Given the description of an element on the screen output the (x, y) to click on. 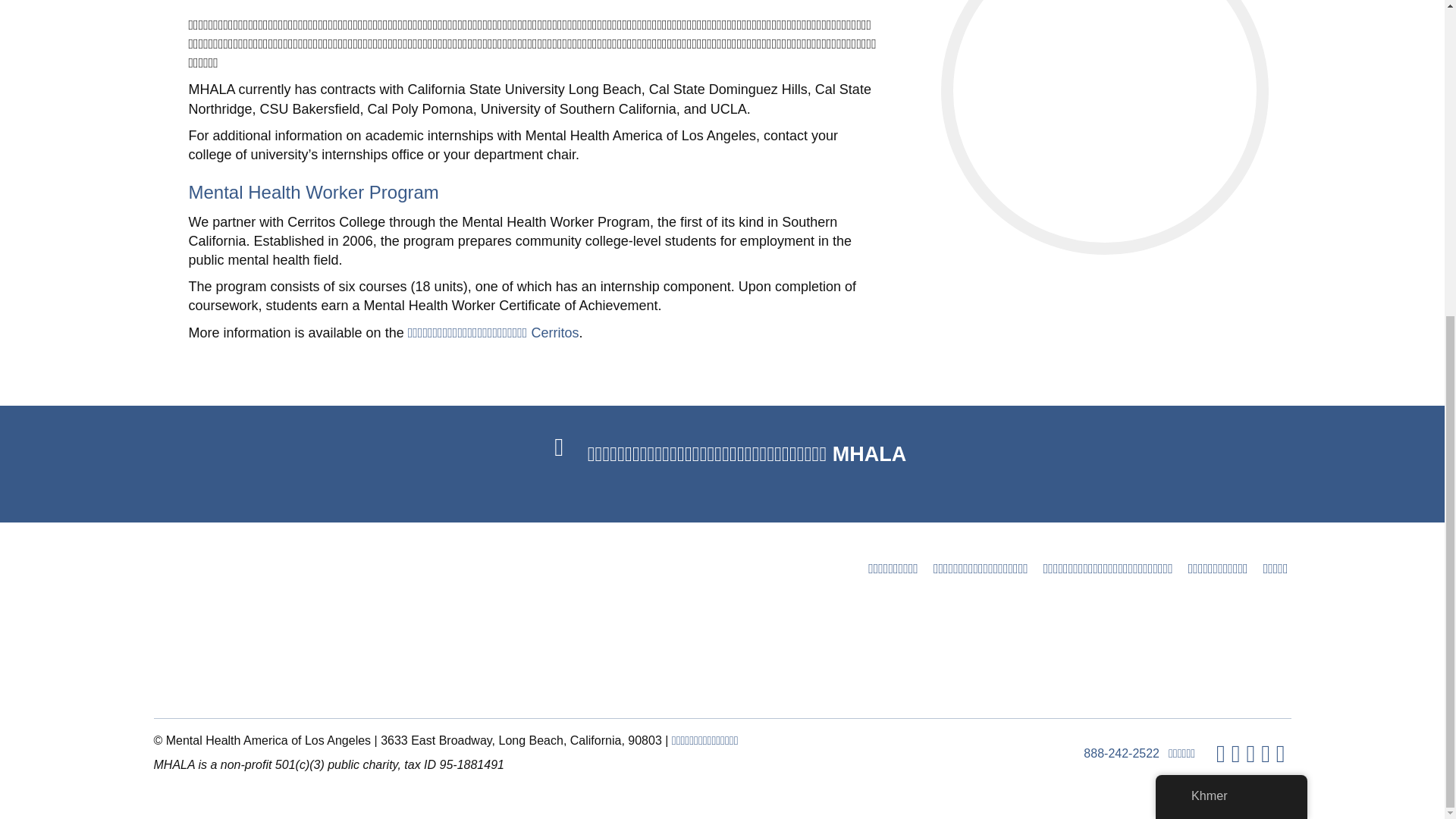
Khmer (1180, 287)
JumpStart Copy (1103, 121)
